Given the description of an element on the screen output the (x, y) to click on. 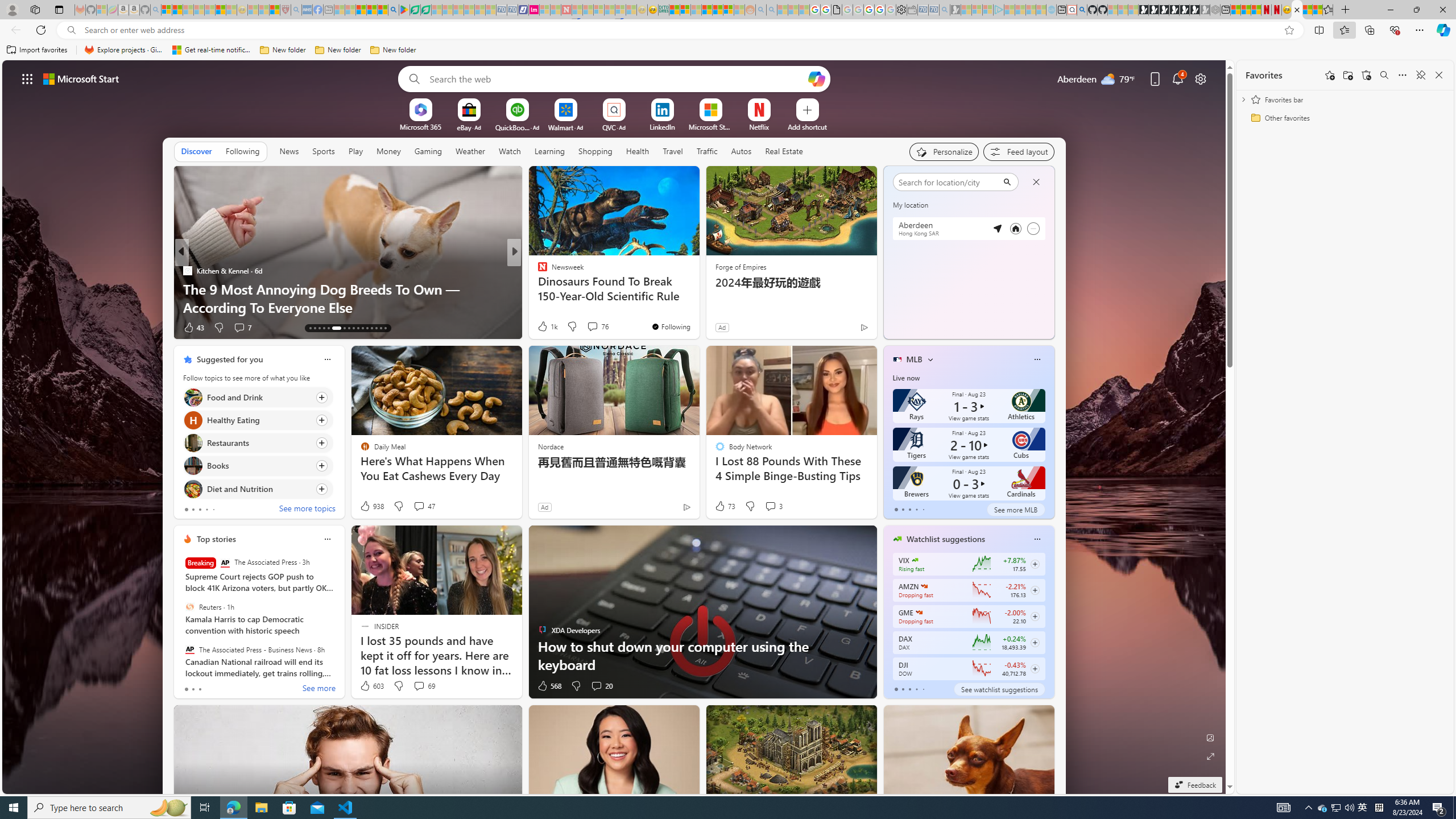
Feed settings (1018, 151)
View comments 4 Comment (589, 327)
Forge of Empires (740, 266)
Reuters (189, 606)
Click to follow topic Books (257, 465)
Jobs - lastminute.com Investor Portal (534, 9)
previous (888, 252)
Terms of Use Agreement (414, 9)
AutomationID: tab-20 (348, 328)
Mostly cloudy (904, 208)
